Given the description of an element on the screen output the (x, y) to click on. 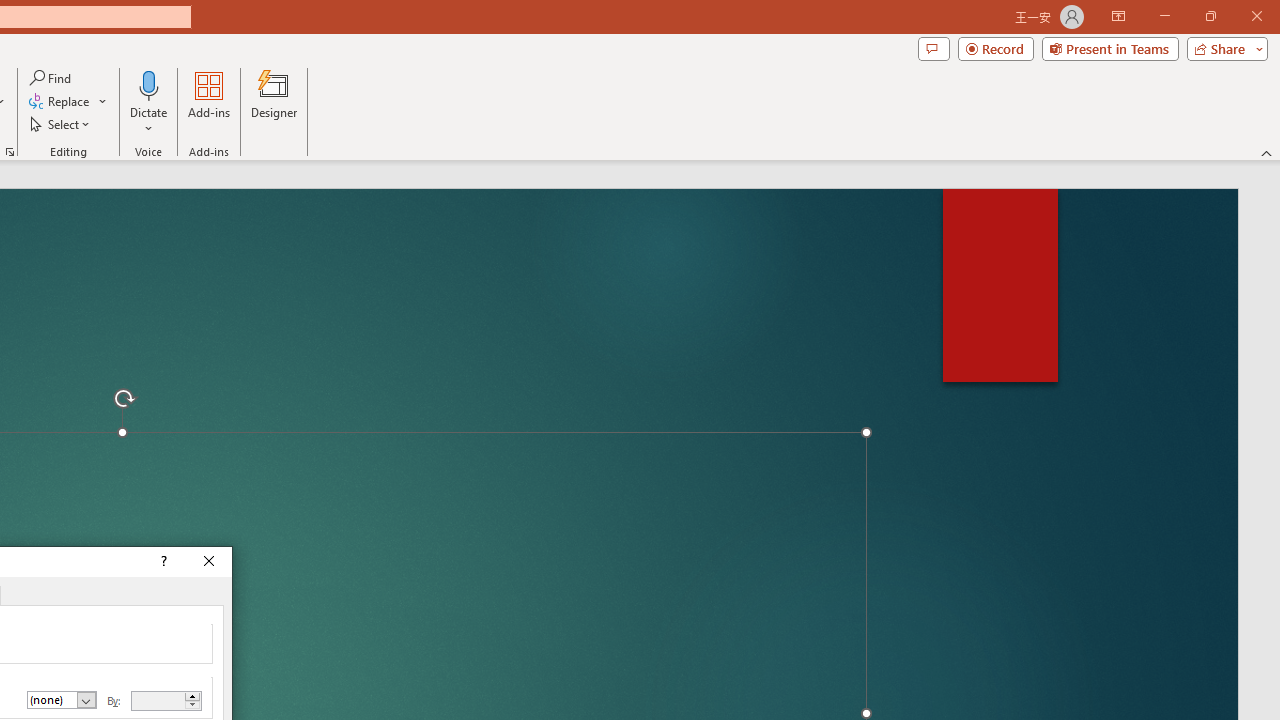
By (166, 701)
Special (61, 700)
